Given the description of an element on the screen output the (x, y) to click on. 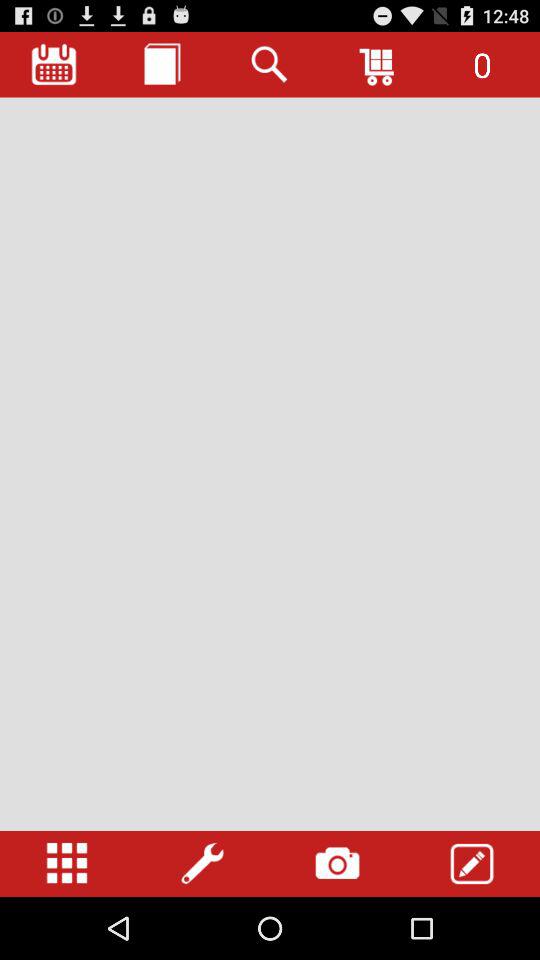
open calendar (53, 64)
